Given the description of an element on the screen output the (x, y) to click on. 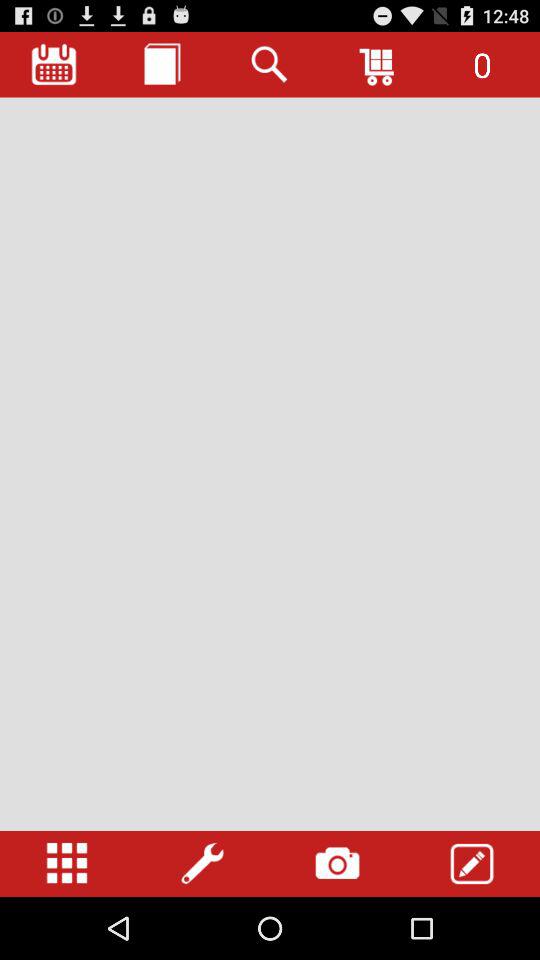
open calendar (53, 64)
